Given the description of an element on the screen output the (x, y) to click on. 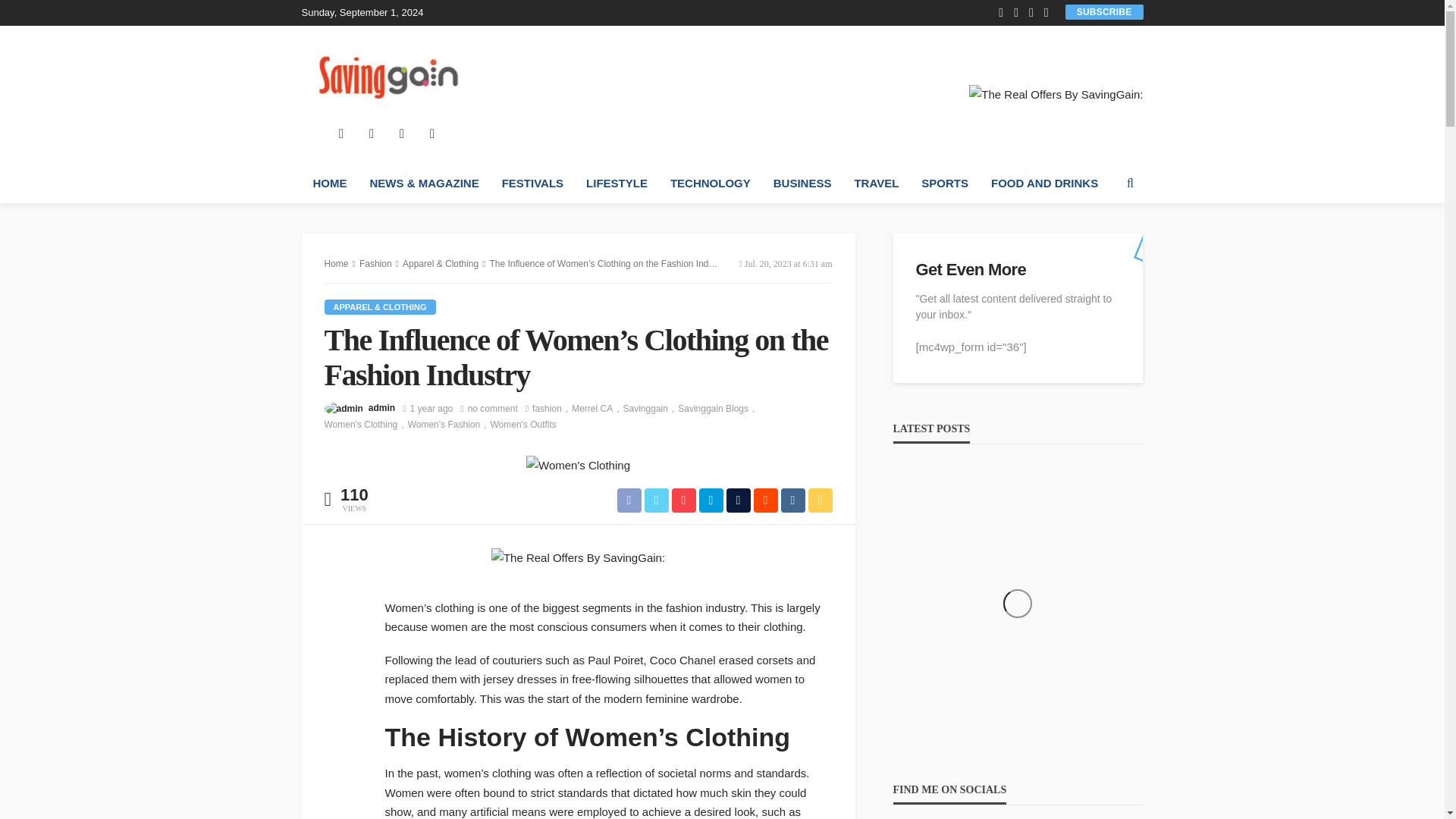
TRAVEL (876, 183)
HOME (329, 183)
twitter (371, 134)
SUBSCRIBE (1103, 11)
LIFESTYLE (617, 183)
BUSINESS (802, 183)
TECHNOLOGY (710, 183)
facebook (341, 134)
subscribe (1103, 11)
FESTIVALS (532, 183)
